Given the description of an element on the screen output the (x, y) to click on. 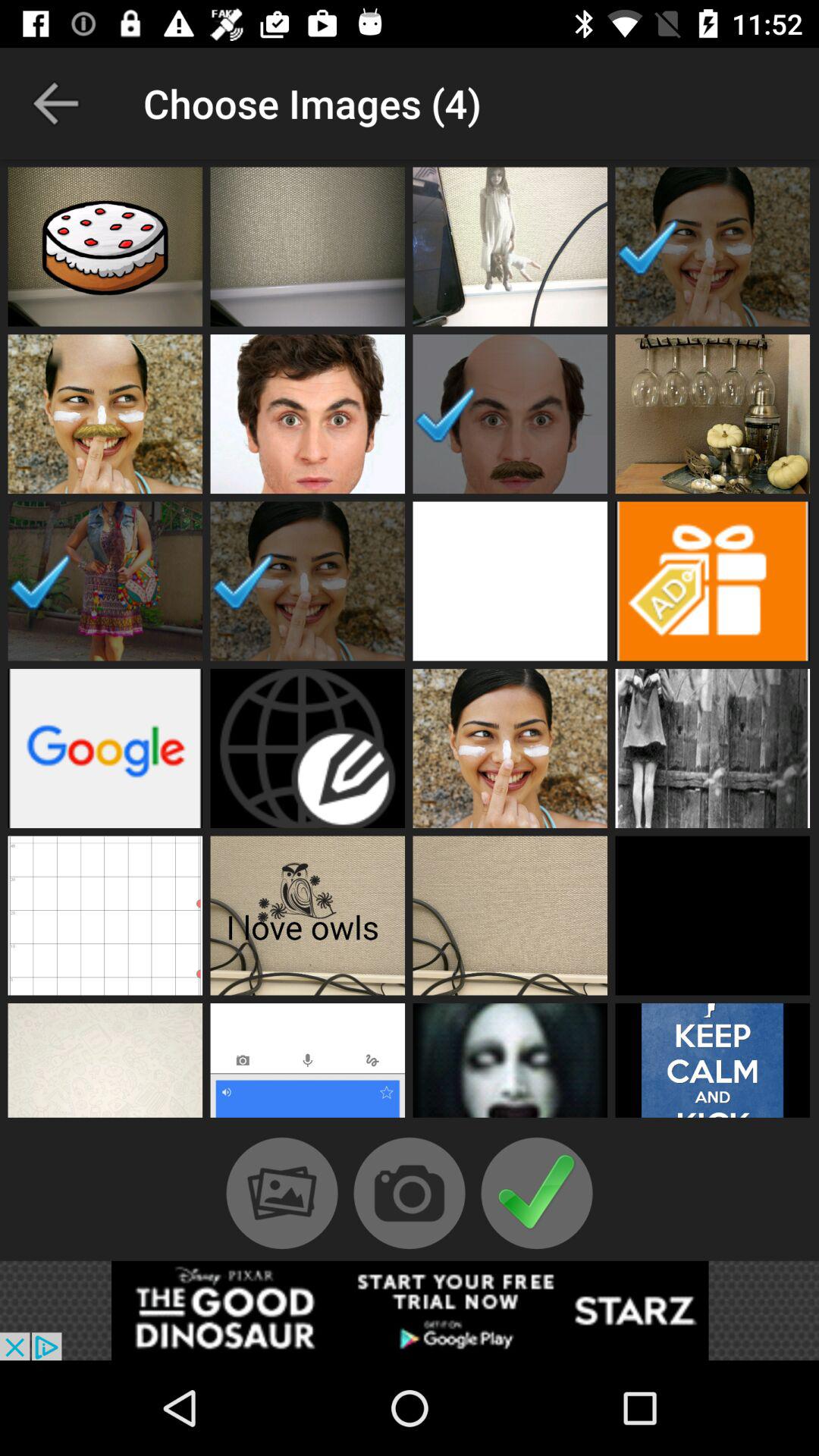
choose profile (307, 413)
